Given the description of an element on the screen output the (x, y) to click on. 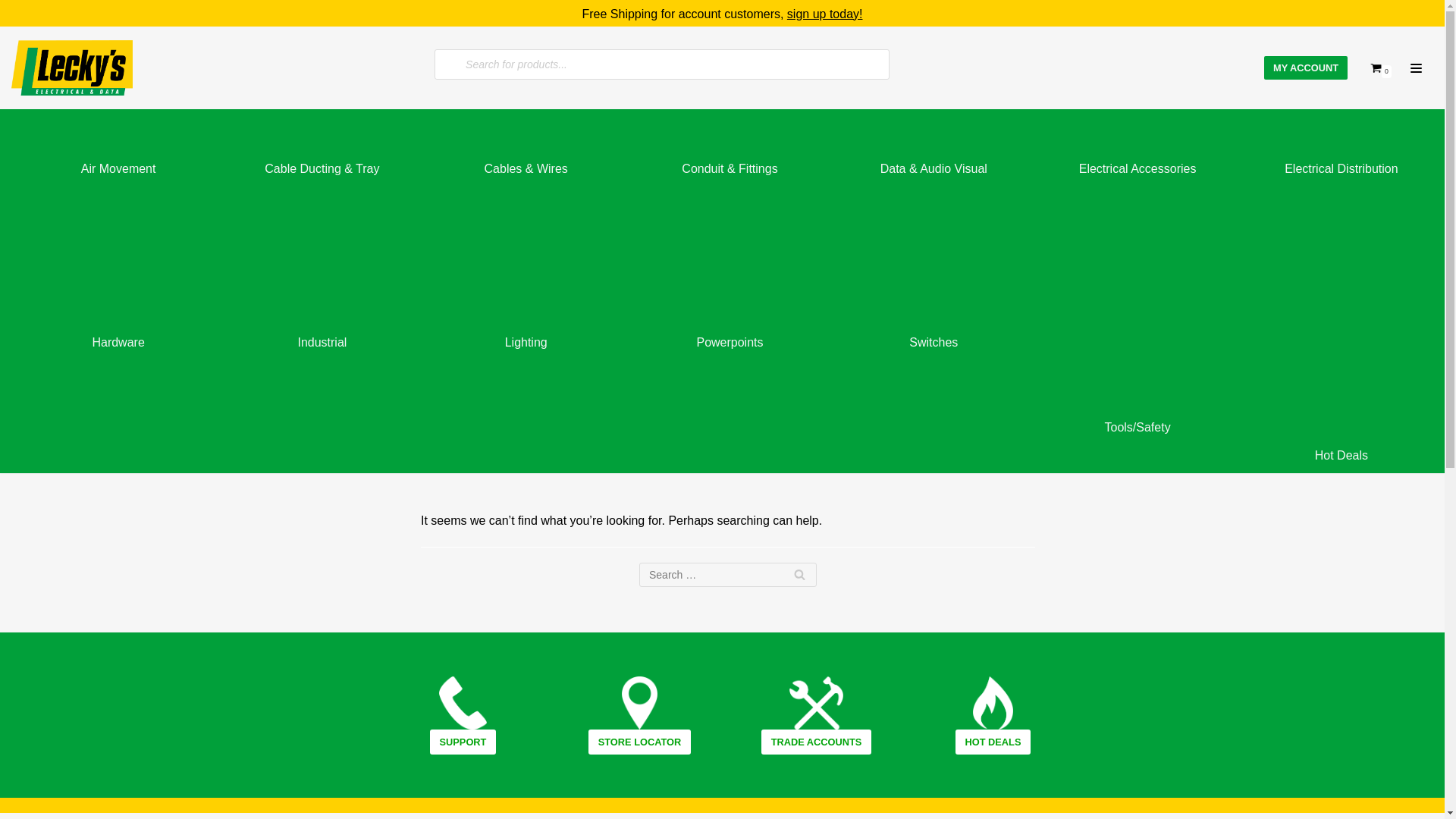
Conduit & Fittings Element type: text (722, 154)
Lighting Element type: text (518, 329)
STORE LOCATOR Element type: text (639, 741)
HOT DEALS Element type: text (993, 741)
Electrical Accessories Element type: text (1130, 154)
Cables & Wires Element type: text (518, 154)
MY ACCOUNT Element type: text (1305, 67)
Electrical Distribution Element type: text (1333, 154)
sign up today! Element type: text (824, 13)
Powerpoints Element type: text (722, 329)
TRADE ACCOUNTS Element type: text (816, 741)
Lecky's Electrical & Data Element type: hover (71, 67)
SUPPORT Element type: text (462, 741)
Search Element type: text (799, 574)
Cable Ducting & Tray Element type: text (314, 154)
Industrial Element type: text (314, 329)
Hardware Element type: text (111, 329)
0 Element type: text (1380, 67)
Tools/Safety Element type: text (1130, 328)
Air Movement Element type: text (111, 154)
Skip to content Element type: text (15, 31)
Switches Element type: text (926, 329)
Data & Audio Visual Element type: text (926, 154)
Hot Deals Element type: text (1333, 328)
